Given the description of an element on the screen output the (x, y) to click on. 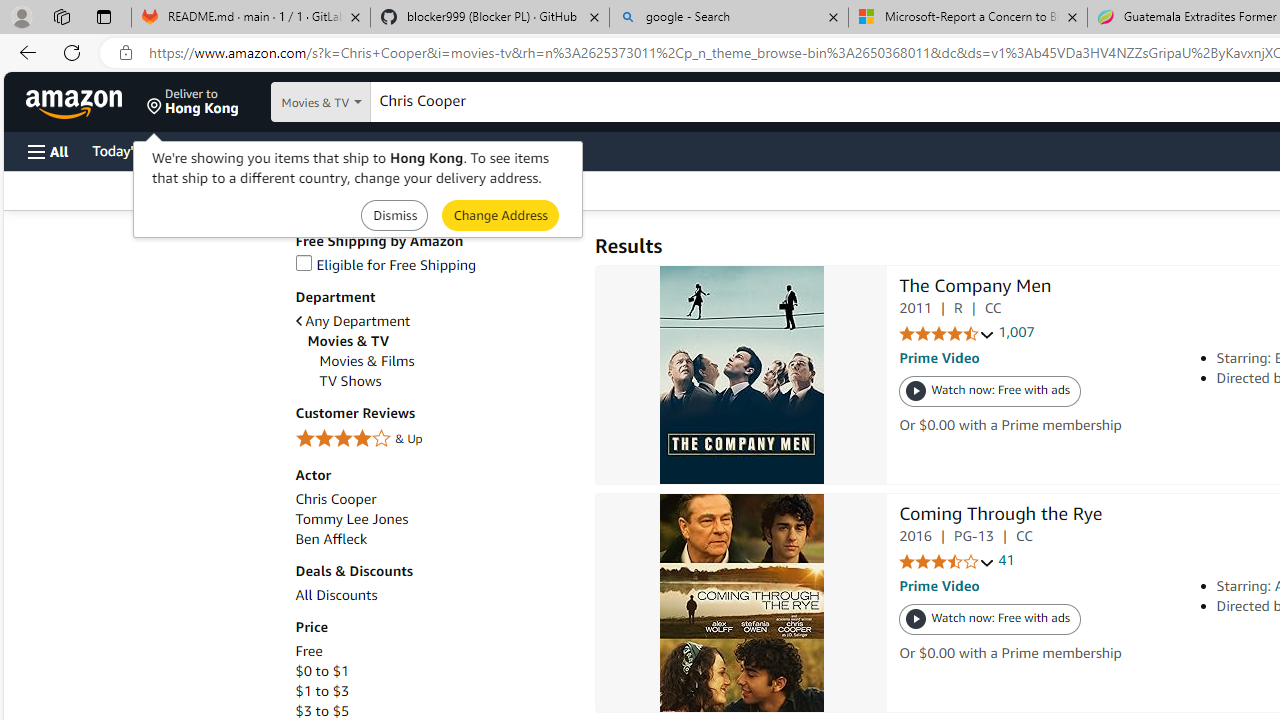
Eligible for Free Shipping (385, 264)
4.4 out of 5 stars (946, 334)
41 (1006, 560)
Search in (371, 102)
Movies & TV (440, 340)
4 Stars & Up& Up (434, 440)
3.3 out of 5 stars (946, 562)
1,007 (1016, 332)
Chris Cooper (434, 499)
TV Shows (349, 381)
Eligible for Free Shipping (434, 265)
Gift Cards (442, 150)
